Given the description of an element on the screen output the (x, y) to click on. 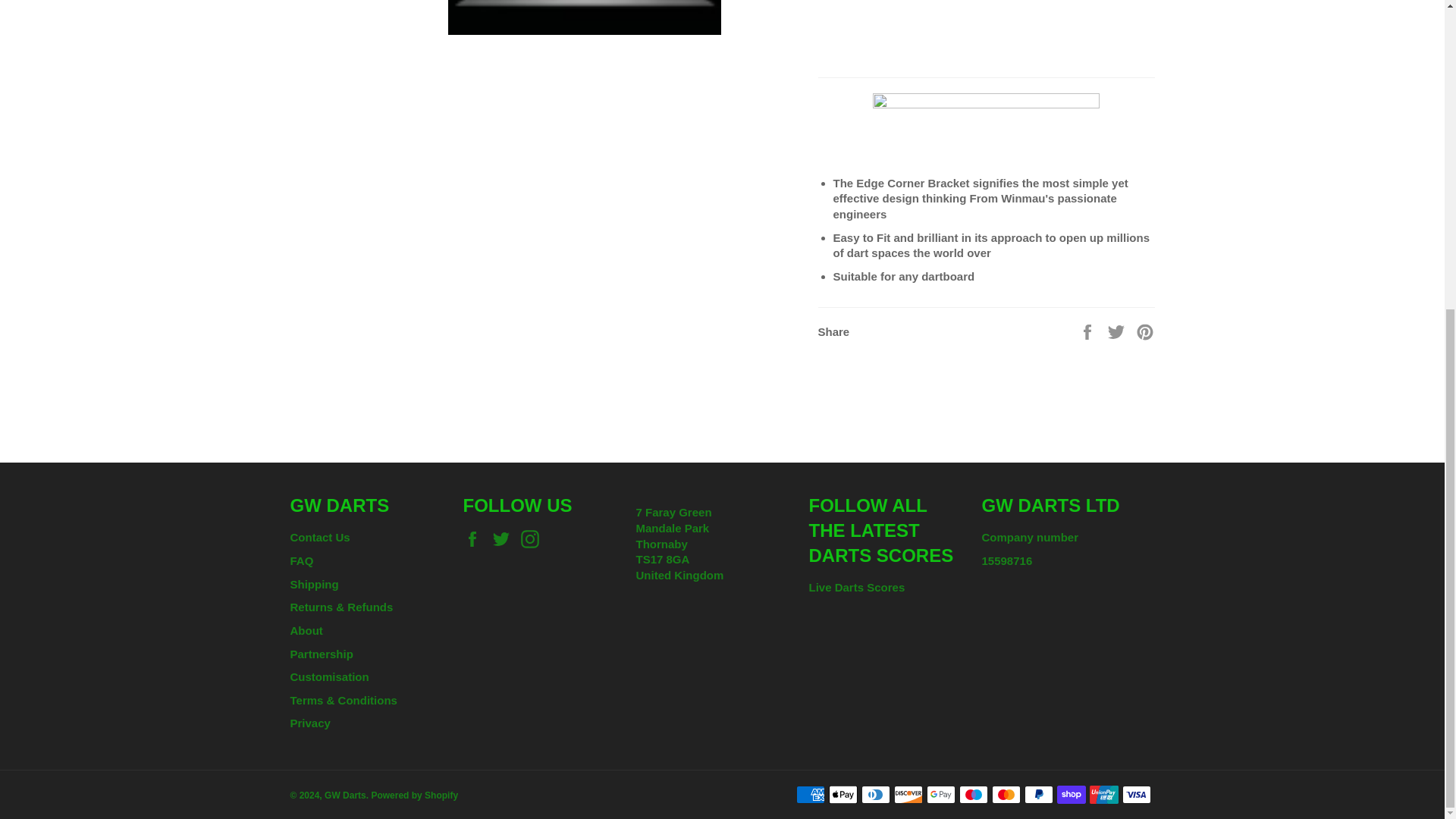
GW Darts on Twitter (505, 538)
Pin on Pinterest (1144, 330)
GW Darts on Facebook (475, 538)
GW Darts on Instagram (534, 538)
Share on Facebook (1088, 330)
Tweet on Twitter (1117, 330)
